Given the description of an element on the screen output the (x, y) to click on. 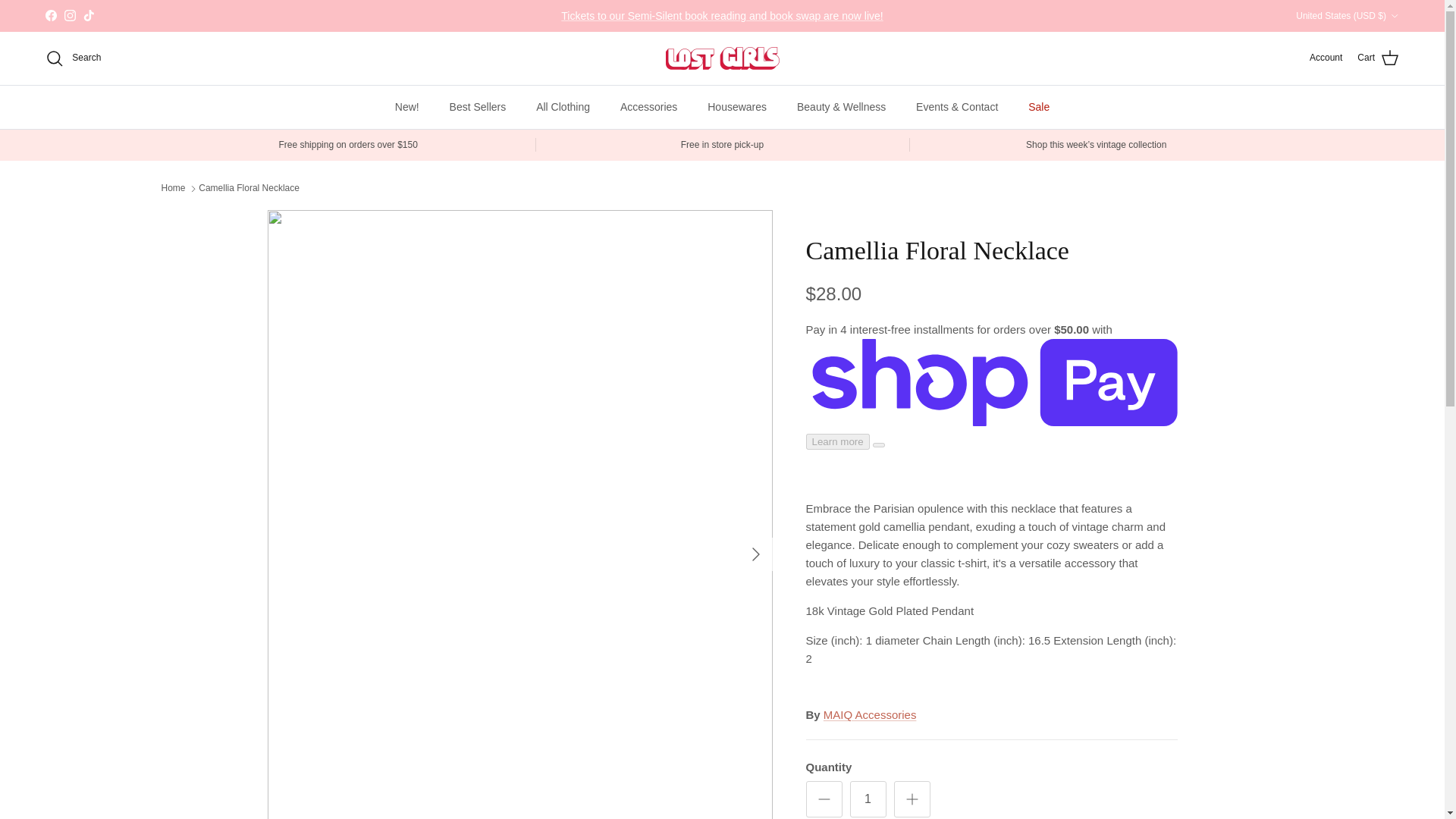
All Clothing (563, 106)
Lost Girls Vintage on Instagram (69, 15)
Facebook (50, 15)
Instagram (69, 15)
Search (72, 58)
New! (406, 106)
Cart (1377, 57)
Lost Girls Vintage (721, 57)
TikTok (88, 15)
1 (866, 799)
